Given the description of an element on the screen output the (x, y) to click on. 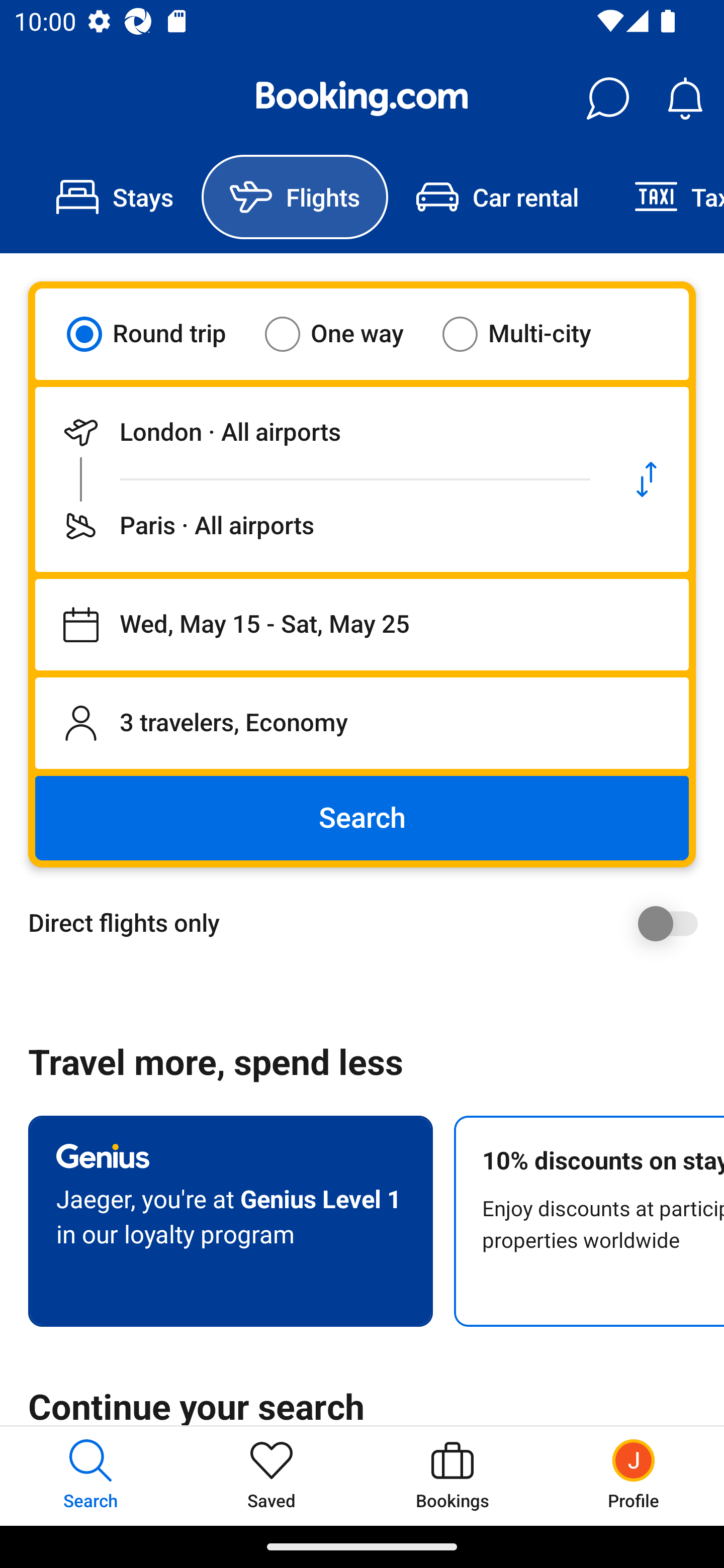
Messages (607, 98)
Notifications (685, 98)
Stays (114, 197)
Flights (294, 197)
Car rental (497, 197)
Taxi (665, 197)
One way (346, 333)
Multi-city (528, 333)
Departing from London · All airports (319, 432)
Swap departure location and destination (646, 479)
Flying to Paris · All airports (319, 525)
Departing on Wed, May 15, returning on Sat, May 25 (361, 624)
3 travelers, Economy (361, 722)
Search (361, 818)
Direct flights only (369, 923)
Saved (271, 1475)
Bookings (452, 1475)
Profile (633, 1475)
